Given the description of an element on the screen output the (x, y) to click on. 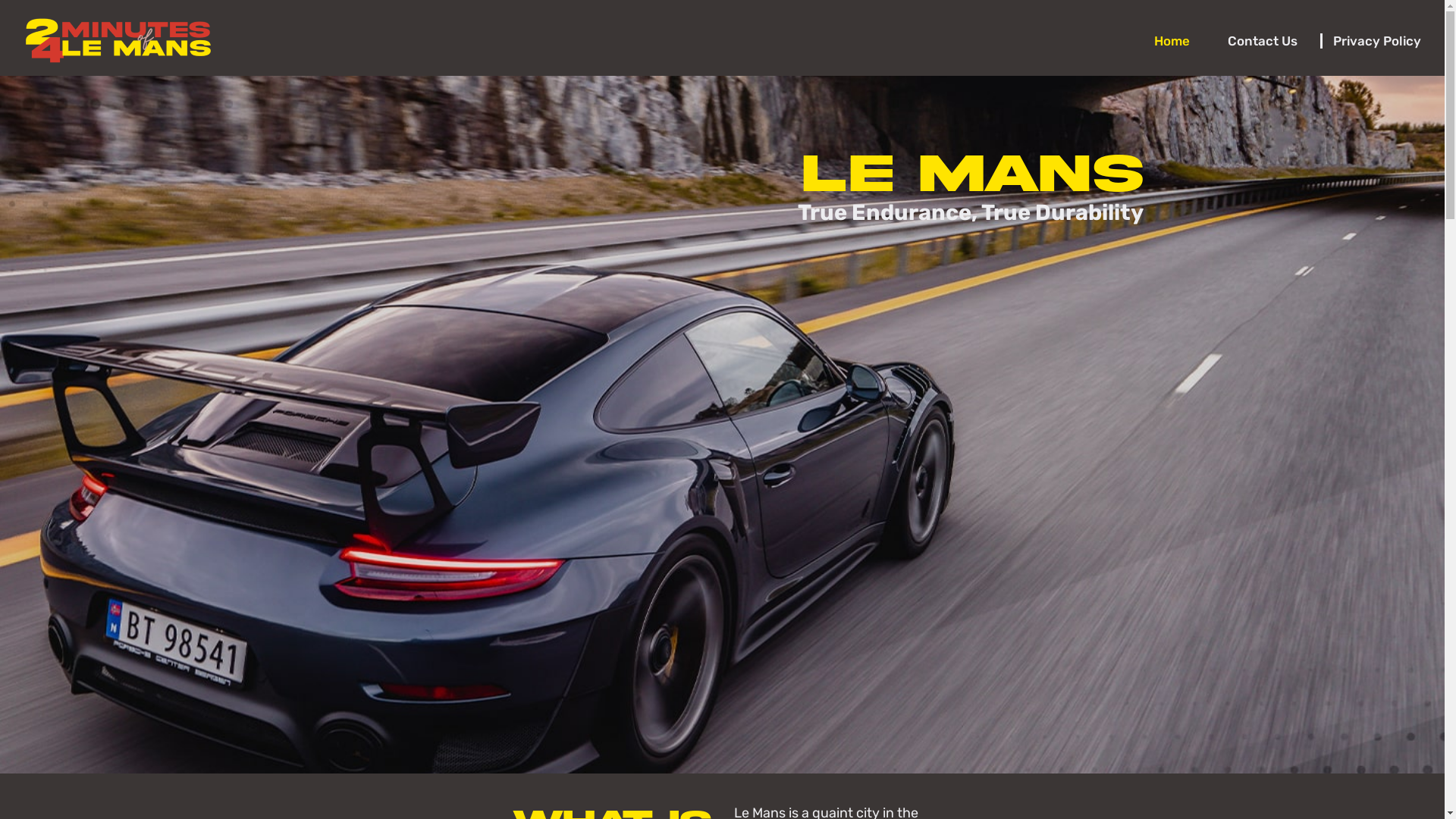
Home Element type: text (1175, 40)
Contact Us Element type: text (1266, 40)
Privacy Policy Element type: text (1370, 40)
